Given the description of an element on the screen output the (x, y) to click on. 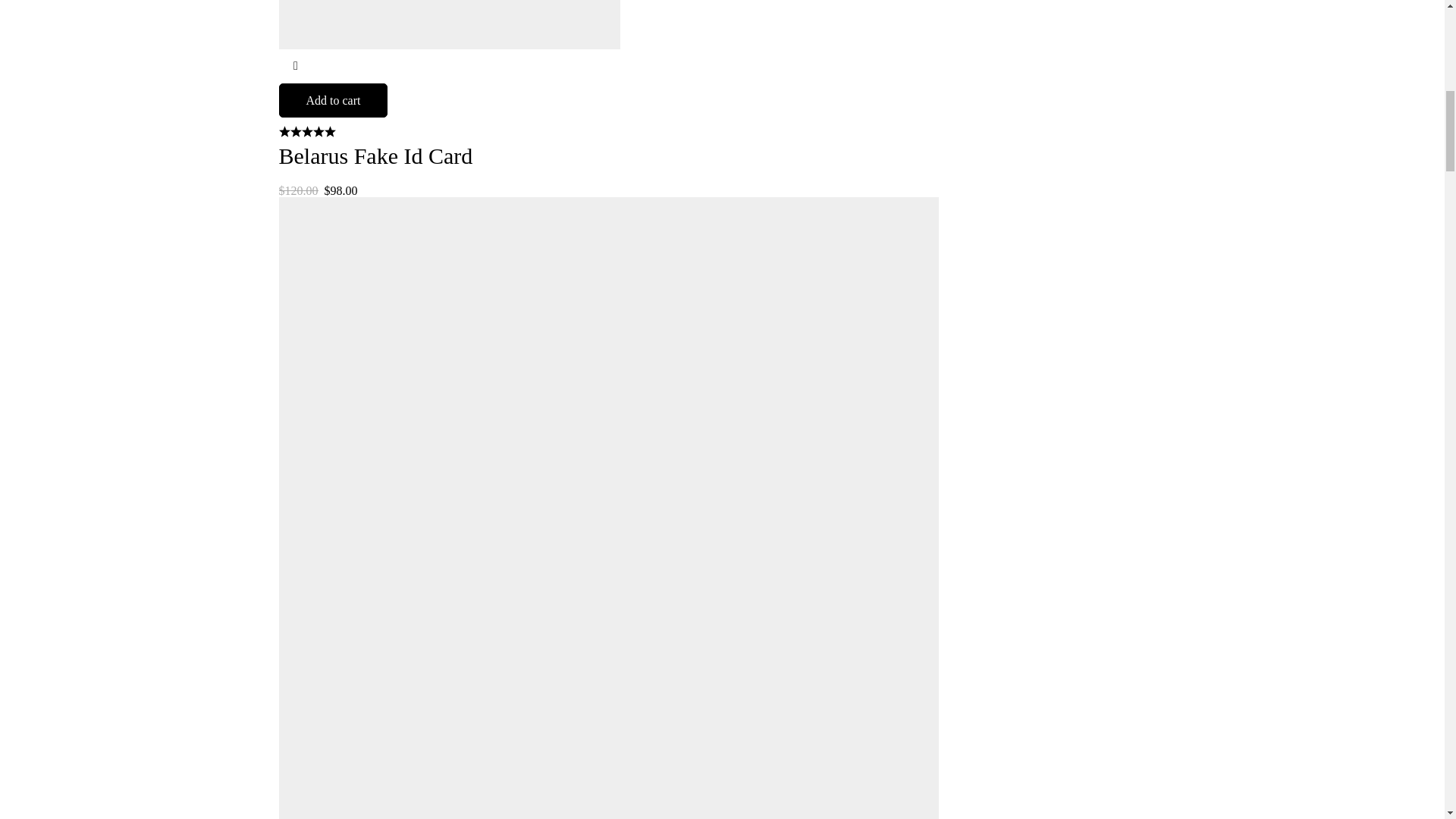
Belarus Fake Id Card (376, 155)
Quick view (296, 66)
Add to cart (333, 100)
